Given the description of an element on the screen output the (x, y) to click on. 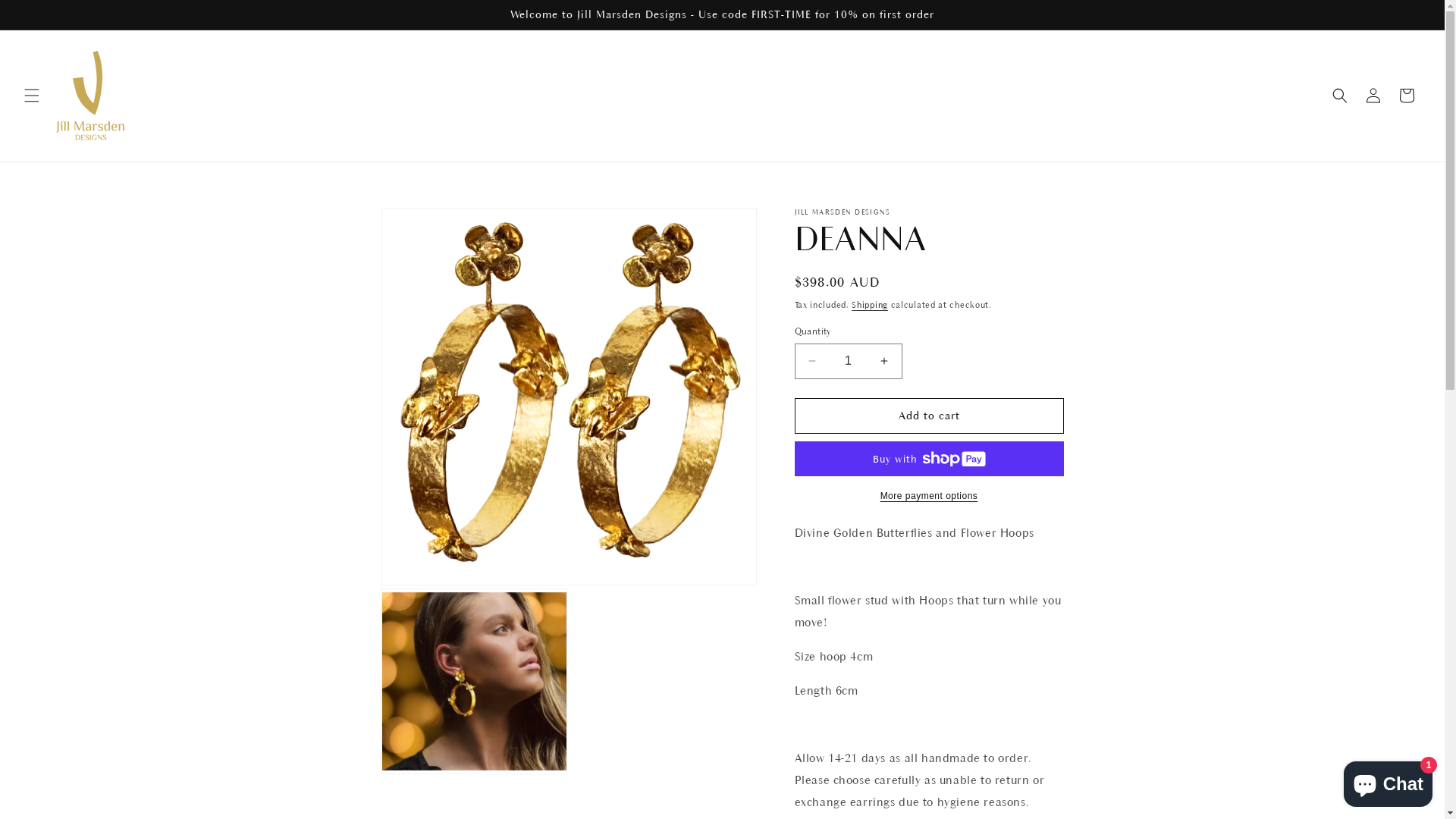
Decrease quantity for DEANNA Element type: text (811, 361)
More payment options Element type: text (928, 495)
Shopify online store chat Element type: hover (1388, 780)
Shipping Element type: text (869, 304)
Cart Element type: text (1406, 95)
Skip to product information Element type: text (426, 224)
Increase quantity for DEANNA Element type: text (884, 361)
Log in Element type: text (1373, 95)
Add to cart Element type: text (928, 415)
